Given the description of an element on the screen output the (x, y) to click on. 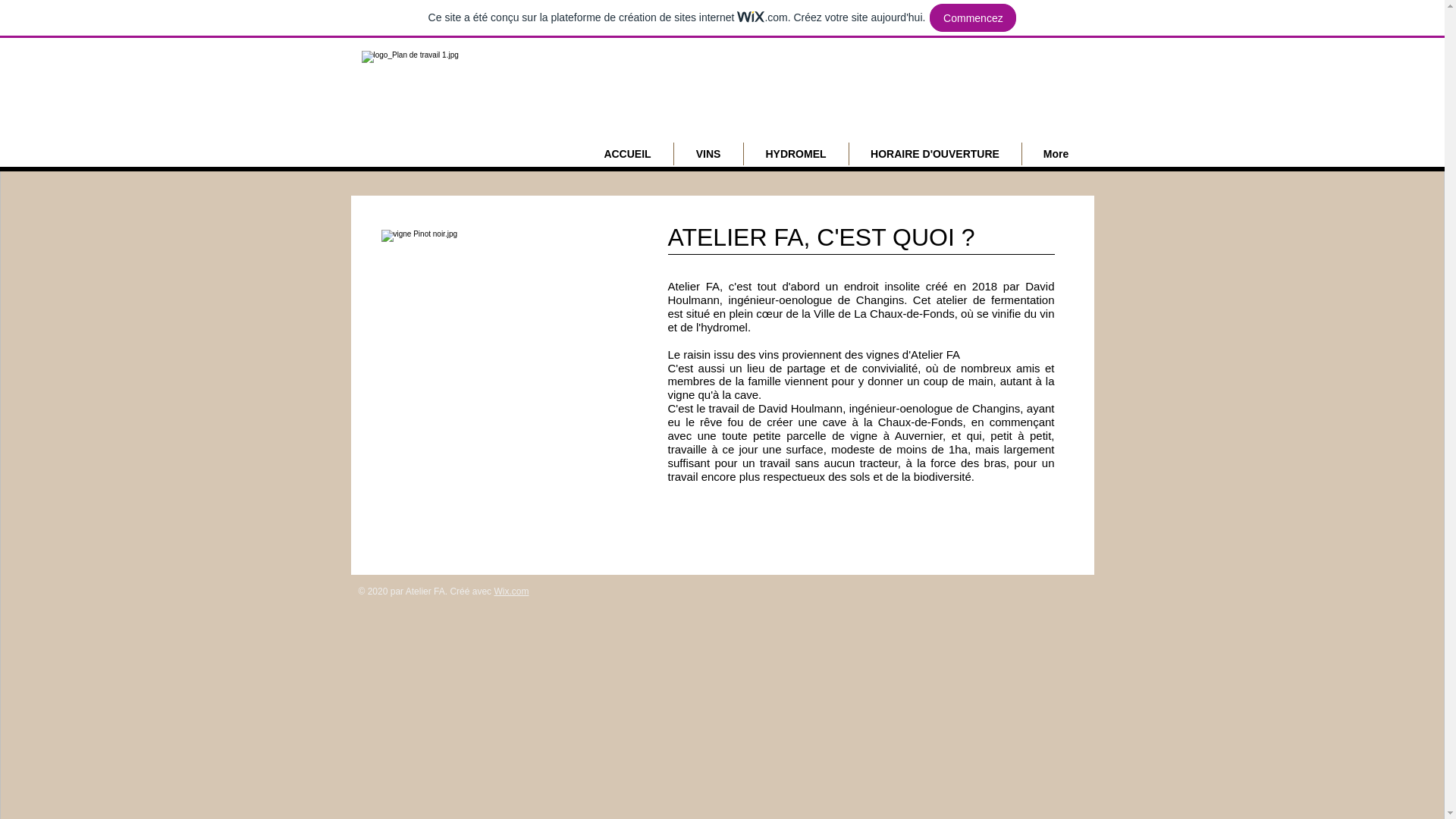
HYDROMEL Element type: text (795, 153)
VINS Element type: text (707, 153)
Wix.com Element type: text (510, 591)
HORAIRE D'OUVERTURE Element type: text (935, 153)
ACCUEIL Element type: text (627, 153)
